Given the description of an element on the screen output the (x, y) to click on. 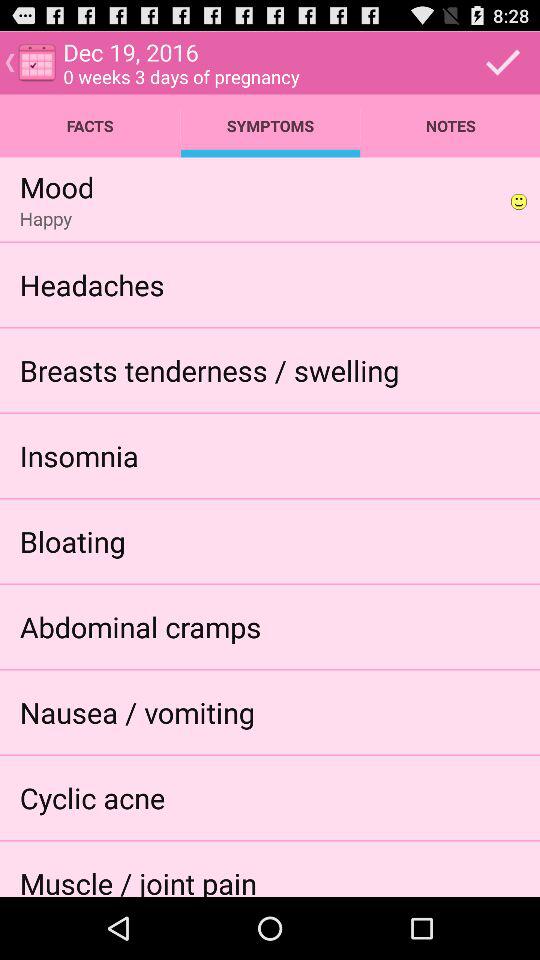
launch breasts tenderness / swelling app (209, 369)
